Given the description of an element on the screen output the (x, y) to click on. 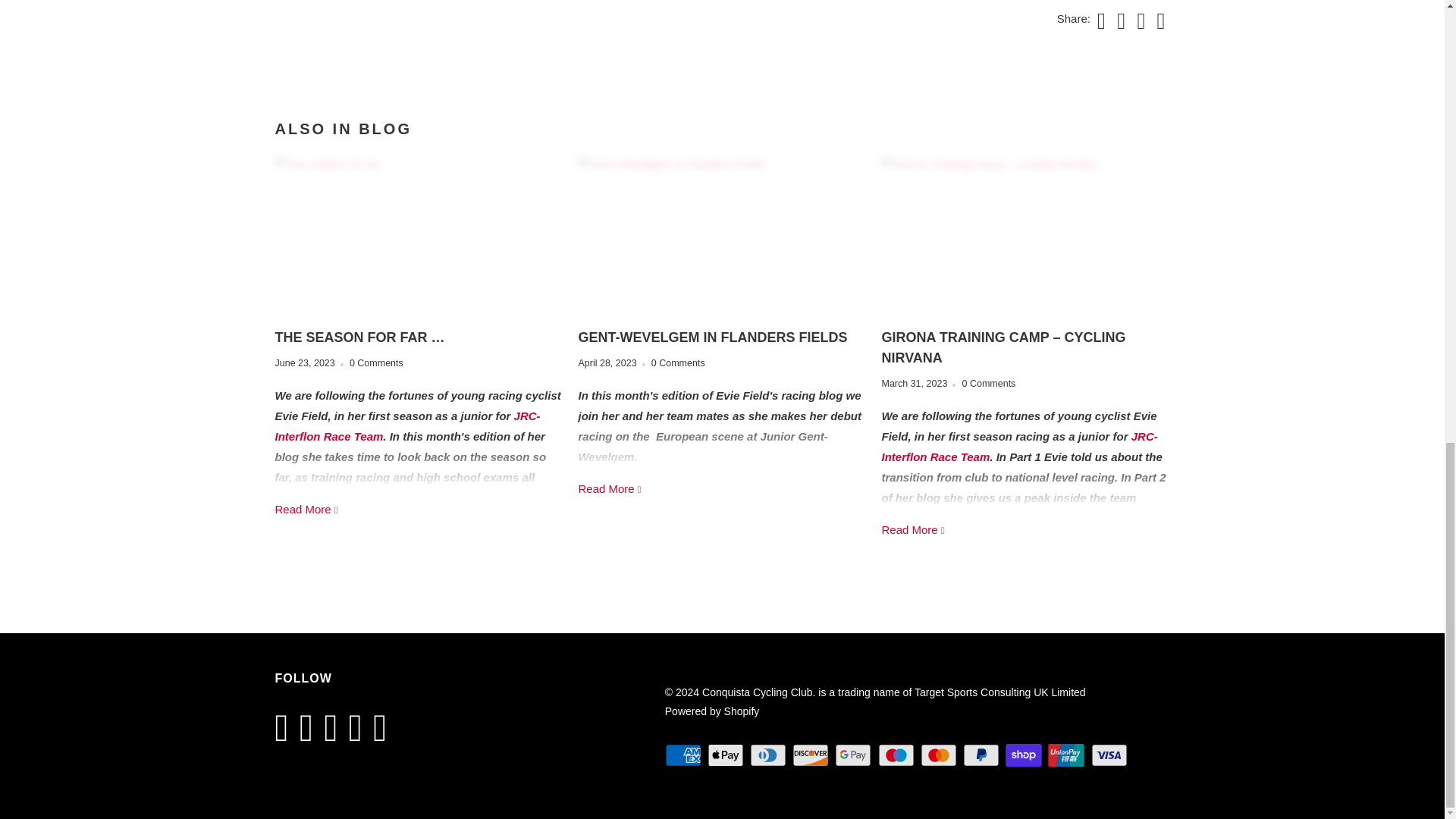
Shop Pay (1025, 754)
PayPal (982, 754)
Visa (1109, 754)
Gent-Wevelgem in Flanders Fields (610, 488)
Mastercard (939, 754)
Diners Club (769, 754)
Google Pay (854, 754)
Apple Pay (726, 754)
Maestro (897, 754)
Gent-Wevelgem in Flanders Fields (712, 337)
